Given the description of an element on the screen output the (x, y) to click on. 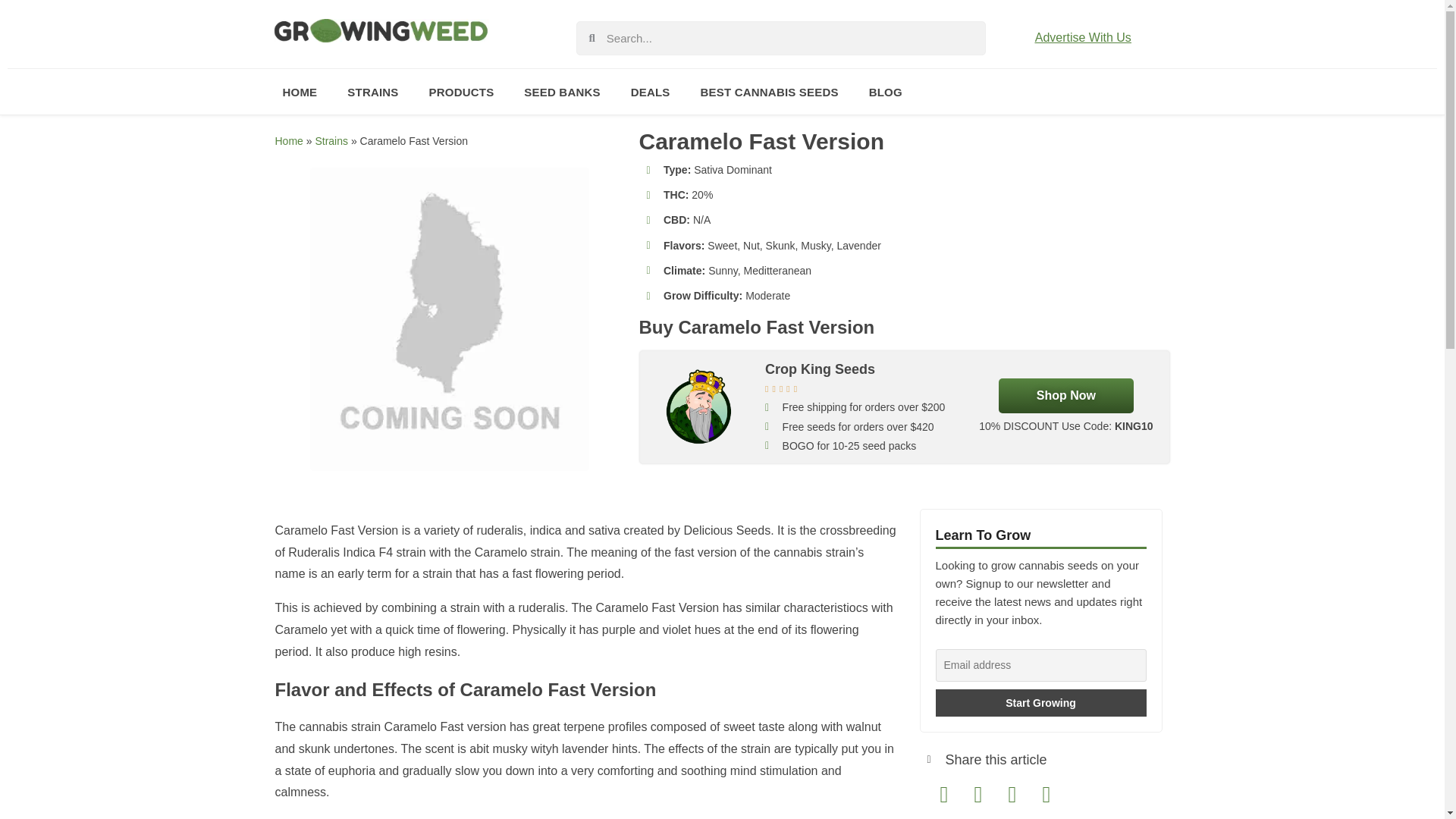
Start Growing (1041, 702)
SEED BANKS (561, 91)
BLOG (885, 91)
BEST CANNABIS SEEDS (769, 91)
PRODUCTS (461, 91)
STRAINS (372, 91)
DEALS (650, 91)
HOME (298, 91)
Advertise With Us (1083, 37)
